Given the description of an element on the screen output the (x, y) to click on. 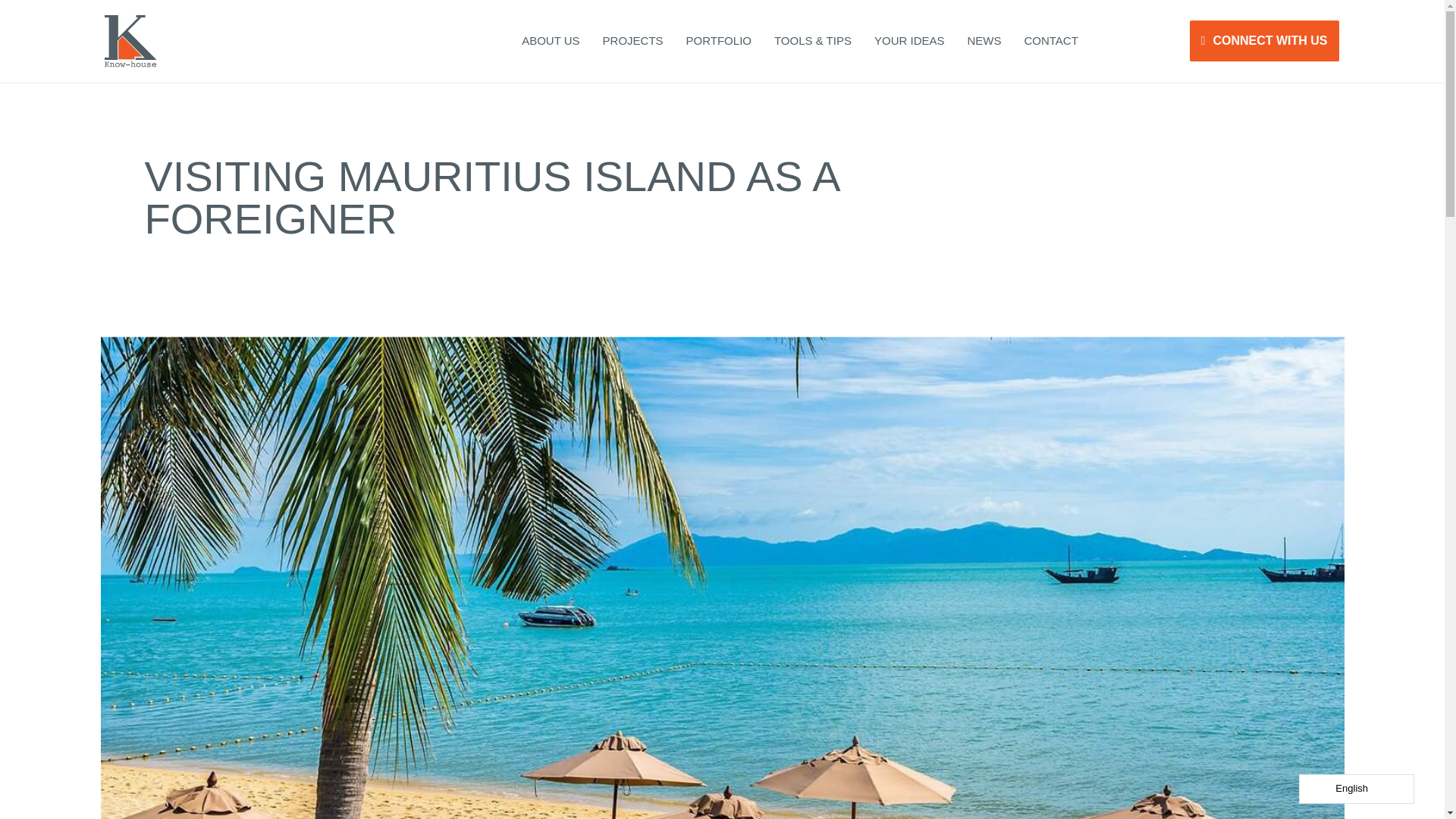
NEWS (983, 40)
YOUR IDEAS (909, 40)
PORTFOLIO (718, 40)
CONNECT WITH US (1264, 40)
CONTACT (1050, 40)
ABOUT US (551, 40)
PROJECTS (633, 40)
